Given the description of an element on the screen output the (x, y) to click on. 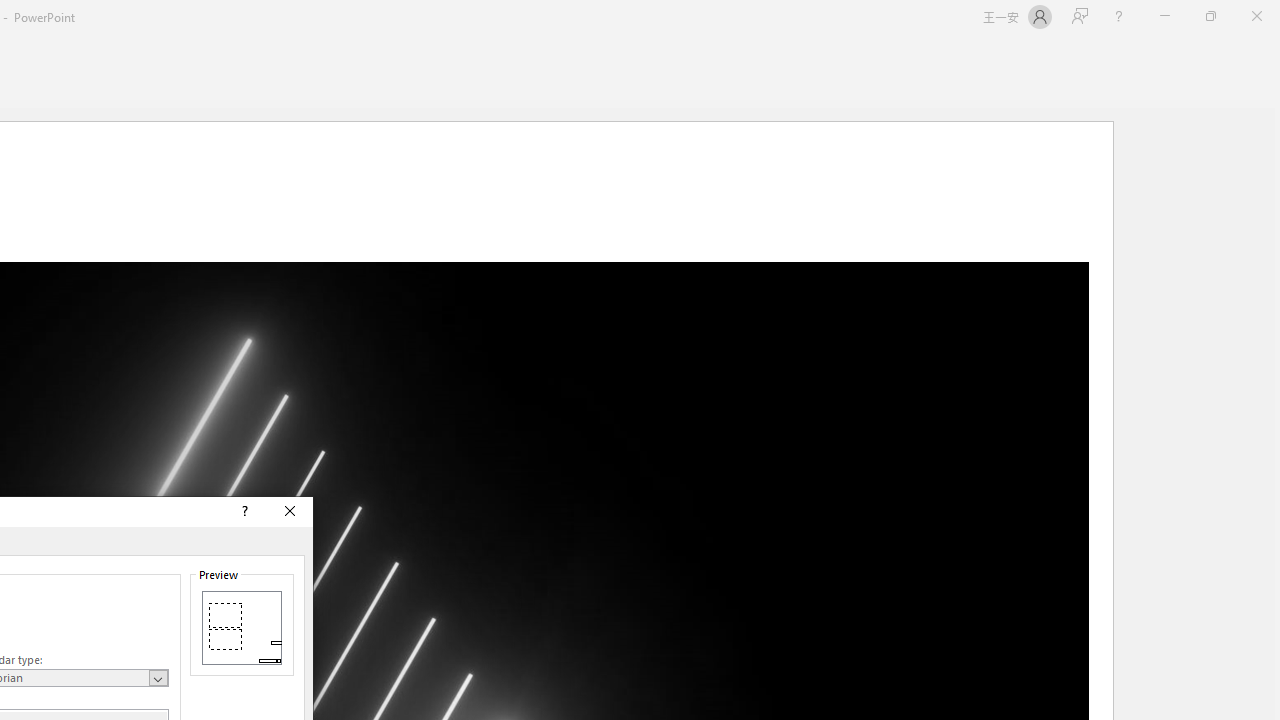
Context help (243, 511)
